Given the description of an element on the screen output the (x, y) to click on. 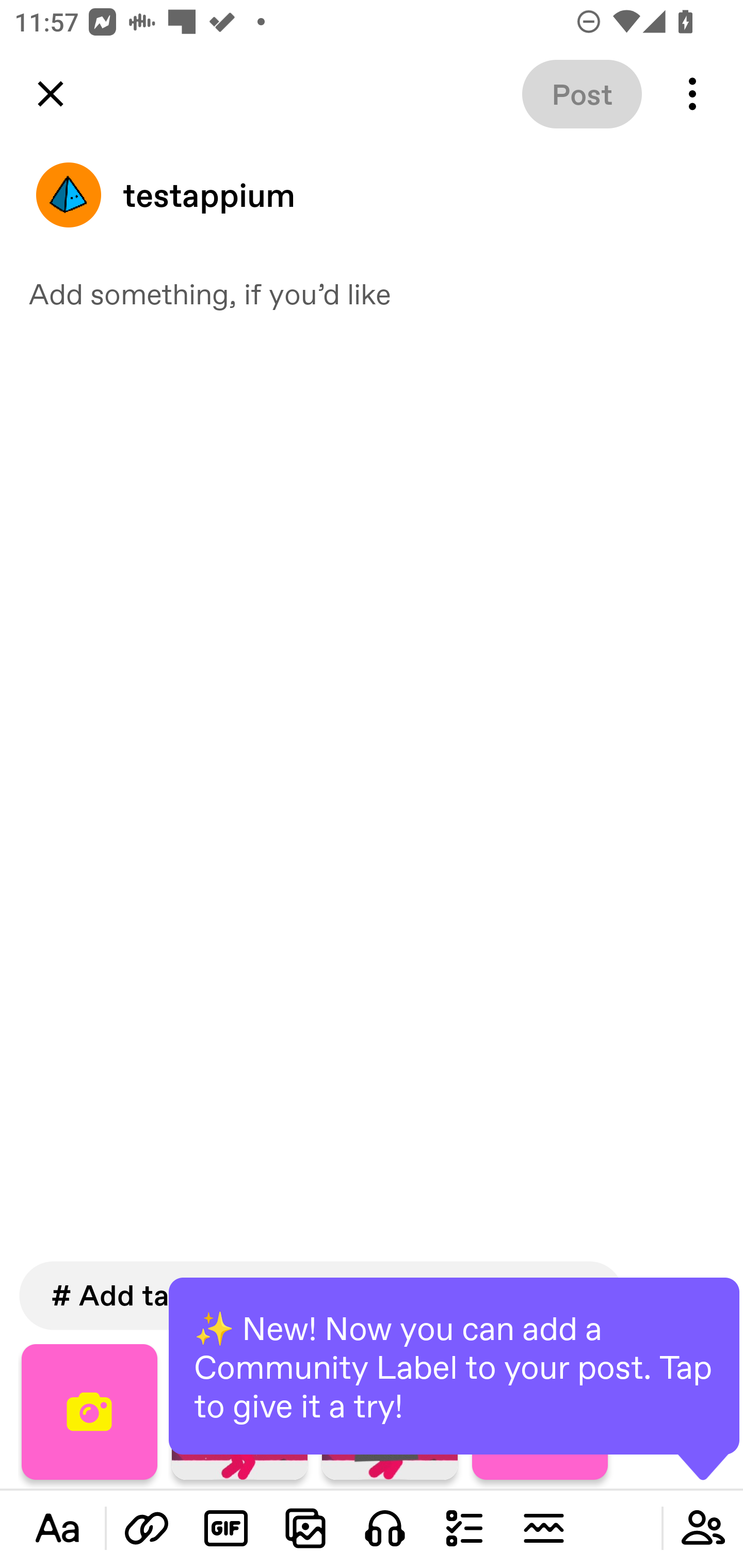
Navigate up (50, 93)
Post (581, 93)
Blog Selector testappium (371, 195)
Add something, if you’d like (371, 293)
Add text to post (57, 1528)
Add text to post (146, 1528)
Add GIF to post (225, 1528)
Add Photo to post (305, 1528)
Add Audio to post (384, 1528)
Add Poll to post (463, 1528)
Add read-more link to post (543, 1528)
Add community label for post (703, 1528)
